Given the description of an element on the screen output the (x, y) to click on. 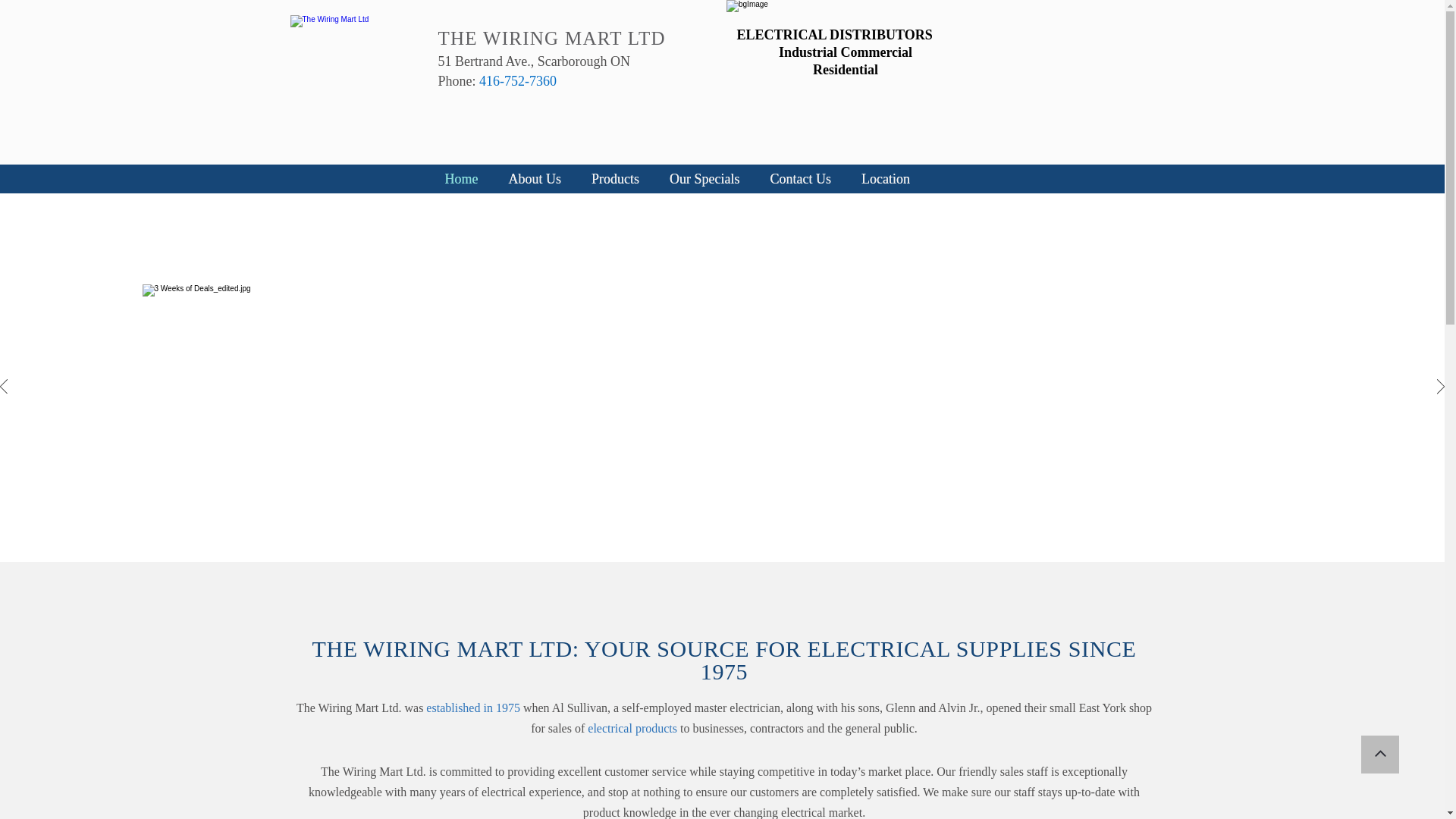
Our Specials (703, 179)
About Us (534, 179)
Products (614, 179)
THE WIRING MART LTD (551, 41)
Home (461, 179)
Location (884, 179)
416-752-7360 (517, 82)
electrical products (632, 729)
Contact Us (801, 179)
established in 1975 (472, 709)
